Given the description of an element on the screen output the (x, y) to click on. 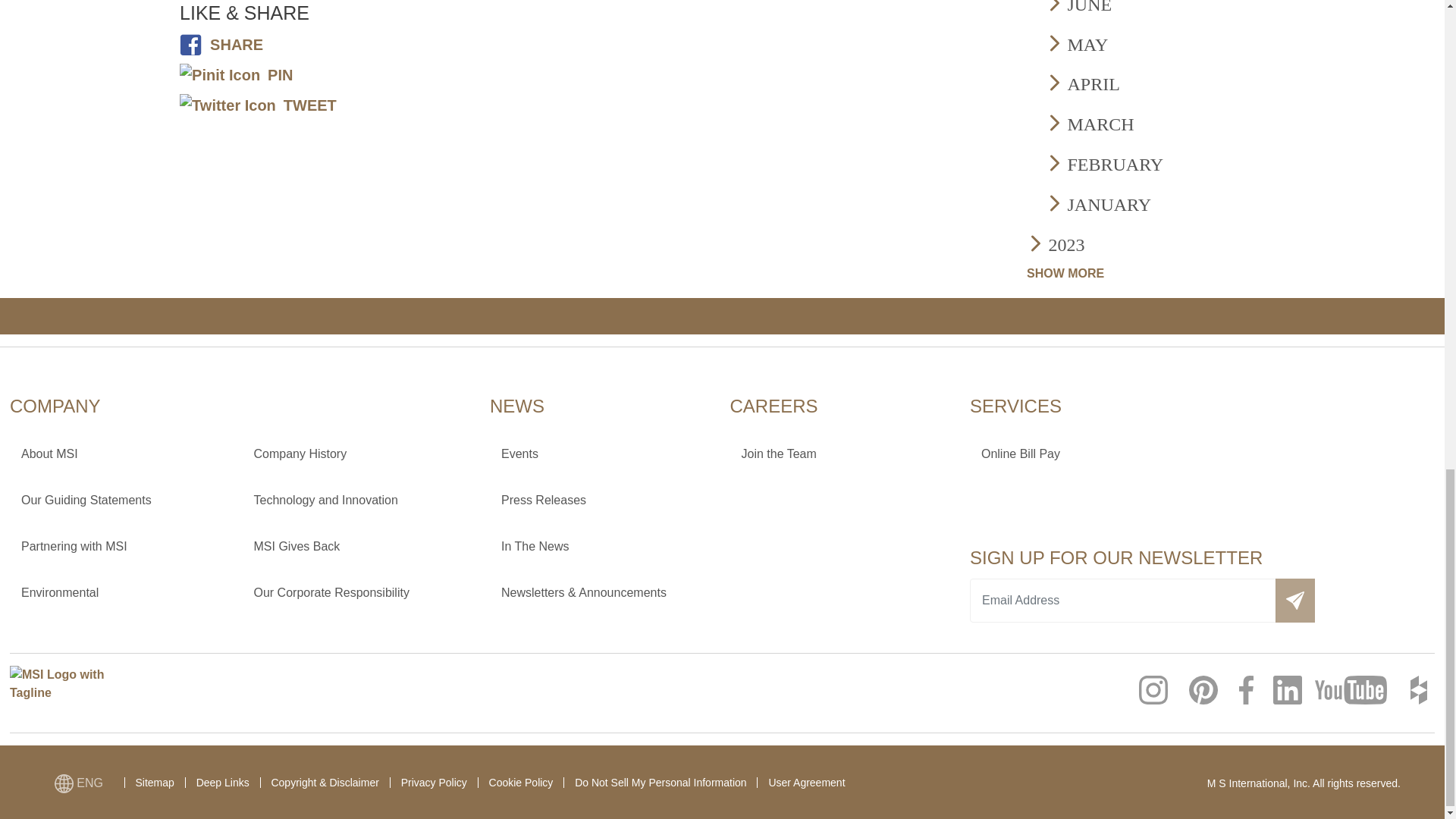
Share on Pinterest (235, 74)
Share on Twitter (257, 105)
Share on Facebook (221, 44)
